Given the description of an element on the screen output the (x, y) to click on. 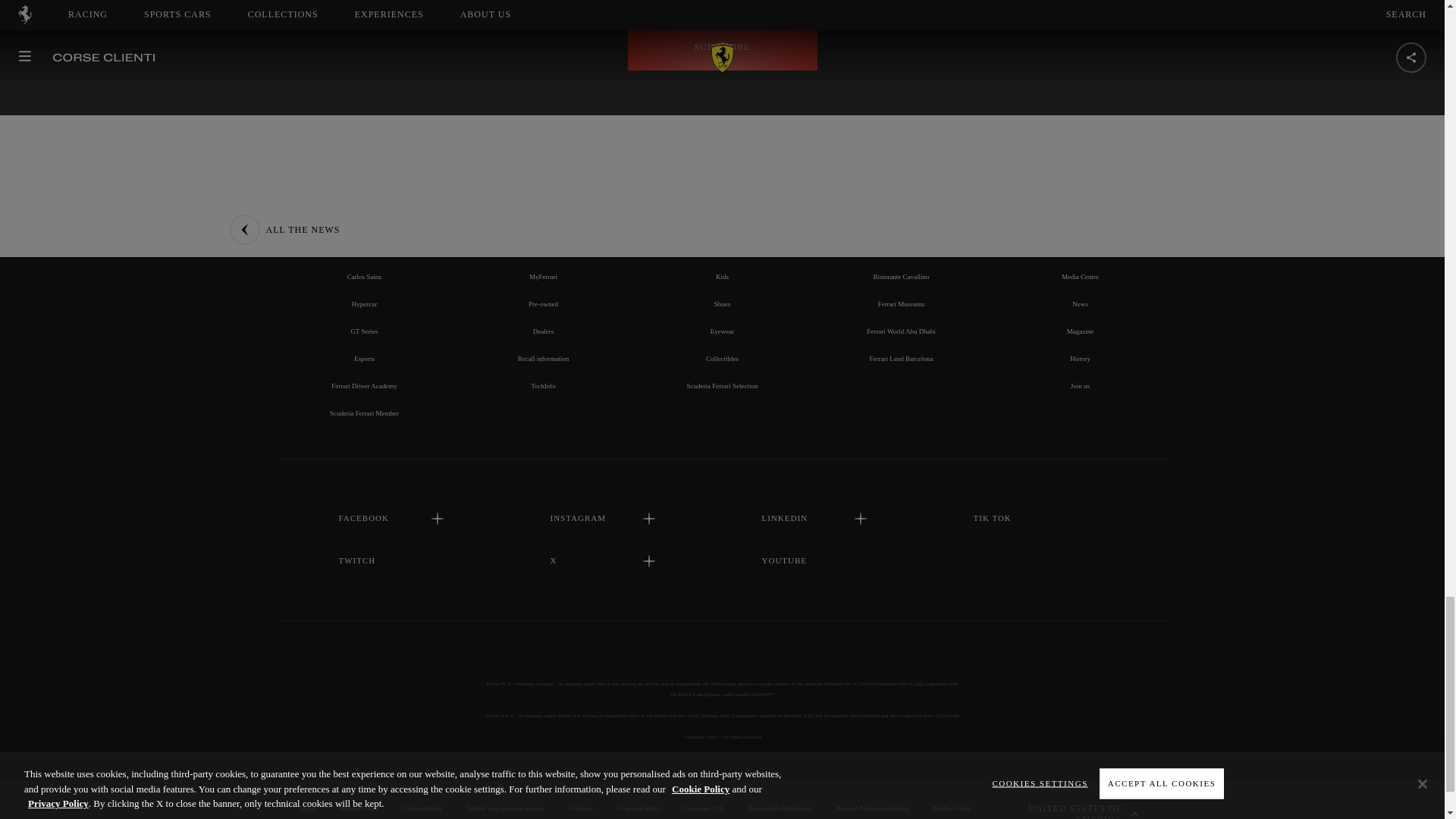
Scuderia Ferrari Member (364, 412)
Dealers (542, 330)
Ferrari Driver Academy (363, 385)
Hypercar (364, 303)
GT Series (363, 330)
MyFerrari (543, 276)
Esports (363, 358)
Scuderia Ferrari HP (363, 222)
Charles Leclerc (363, 249)
Change country (1072, 799)
SPORTS CARS (542, 187)
Pre-owned (542, 303)
RACING (363, 187)
Configure your Ferrari (543, 249)
Range (542, 222)
